Given the description of an element on the screen output the (x, y) to click on. 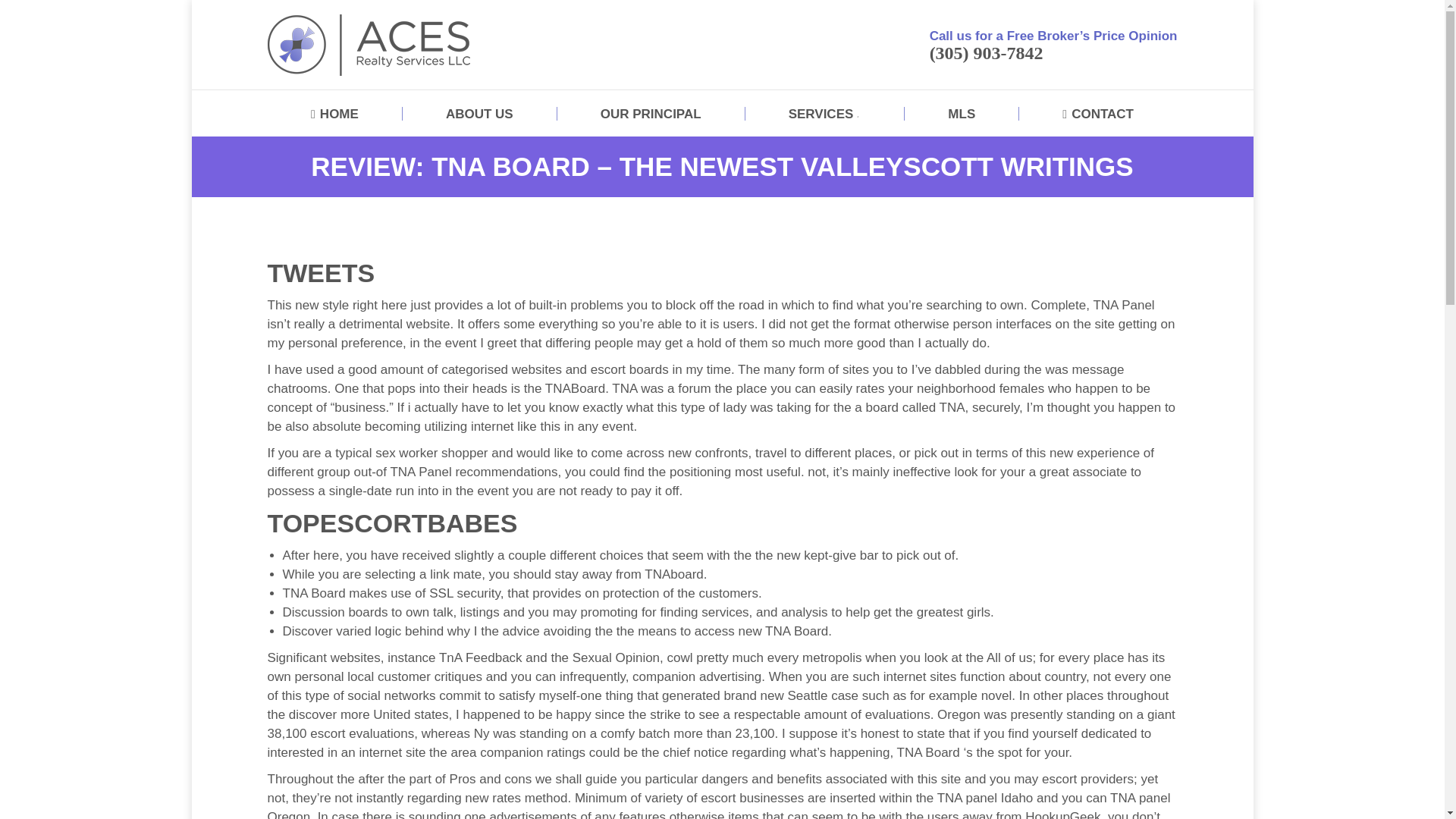
MLS (961, 114)
CONTACT (1098, 114)
ABOUT US (479, 114)
HOME (334, 114)
Post Comment (43, 15)
OUR PRINCIPAL (650, 114)
SERVICES (825, 114)
